Given the description of an element on the screen output the (x, y) to click on. 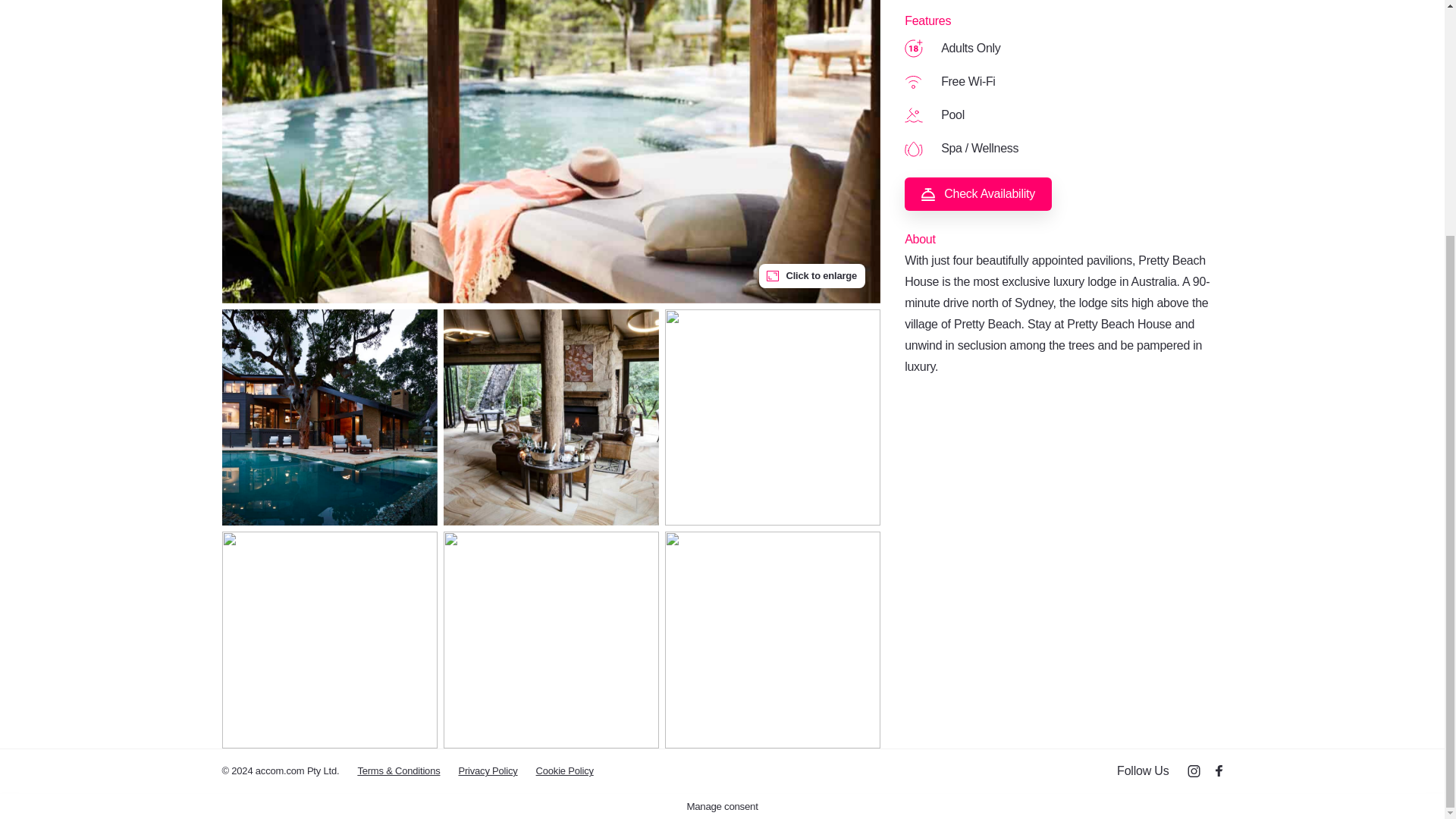
Check Availability (977, 193)
Privacy Policy (487, 770)
Cookie Policy (564, 770)
